Given the description of an element on the screen output the (x, y) to click on. 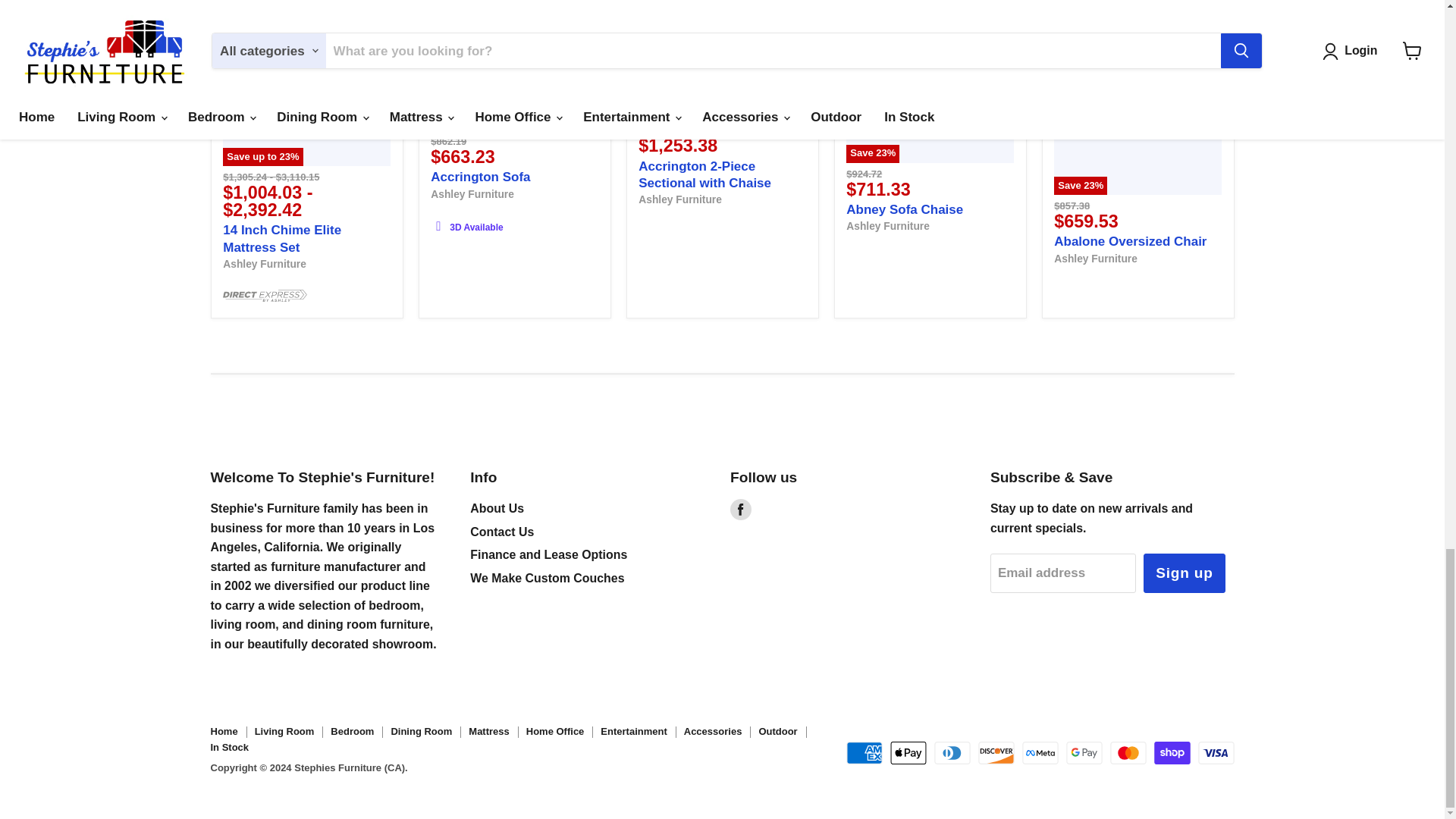
Ashley Furniture (887, 225)
Diners Club (952, 753)
Ashley Furniture (1095, 257)
Apple Pay (907, 753)
Ashley Furniture (680, 199)
Facebook (740, 509)
American Express (863, 753)
Ashley Furniture (471, 193)
Ashley Furniture (263, 263)
